Given the description of an element on the screen output the (x, y) to click on. 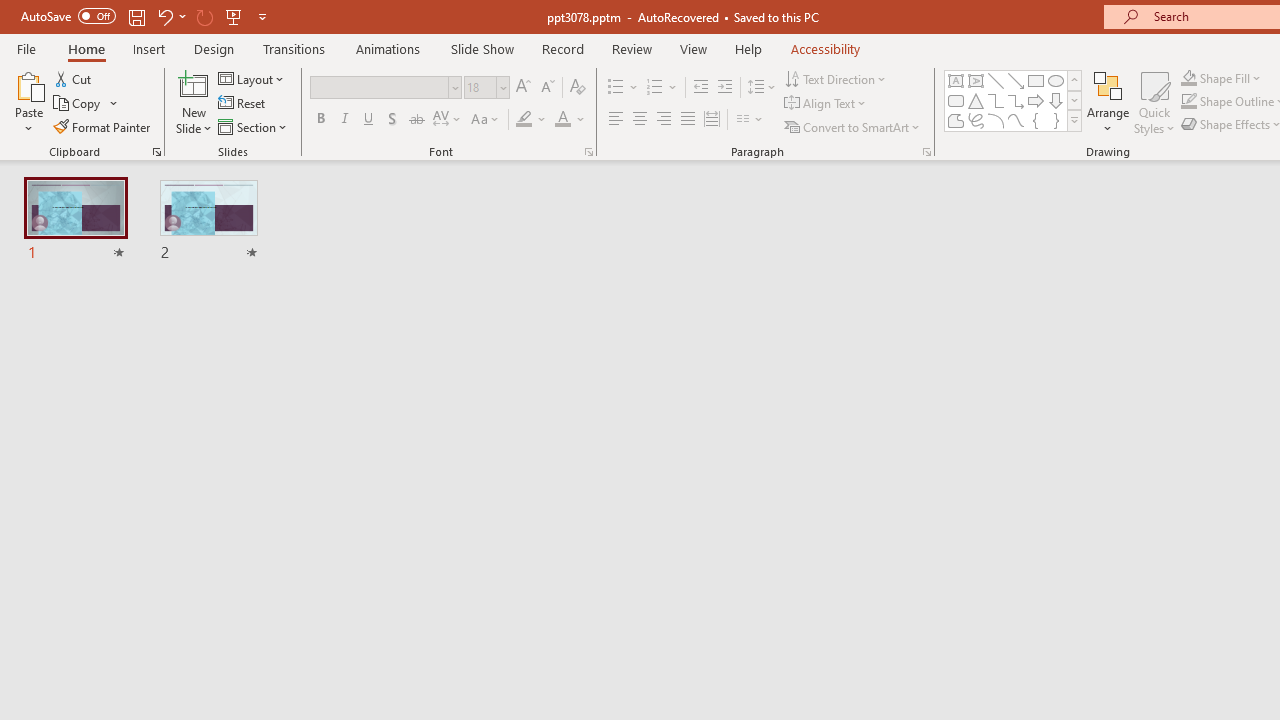
Views and More Actions... (442, 321)
Terminal (1046, 202)
Search (Ctrl+Shift+F) (135, 466)
Run and Debug (Ctrl+Shift+D) (135, 622)
Source Control (Ctrl+Shift+G) (135, 544)
Wikipedia, the free encyclopedia (437, 138)
